Given the description of an element on the screen output the (x, y) to click on. 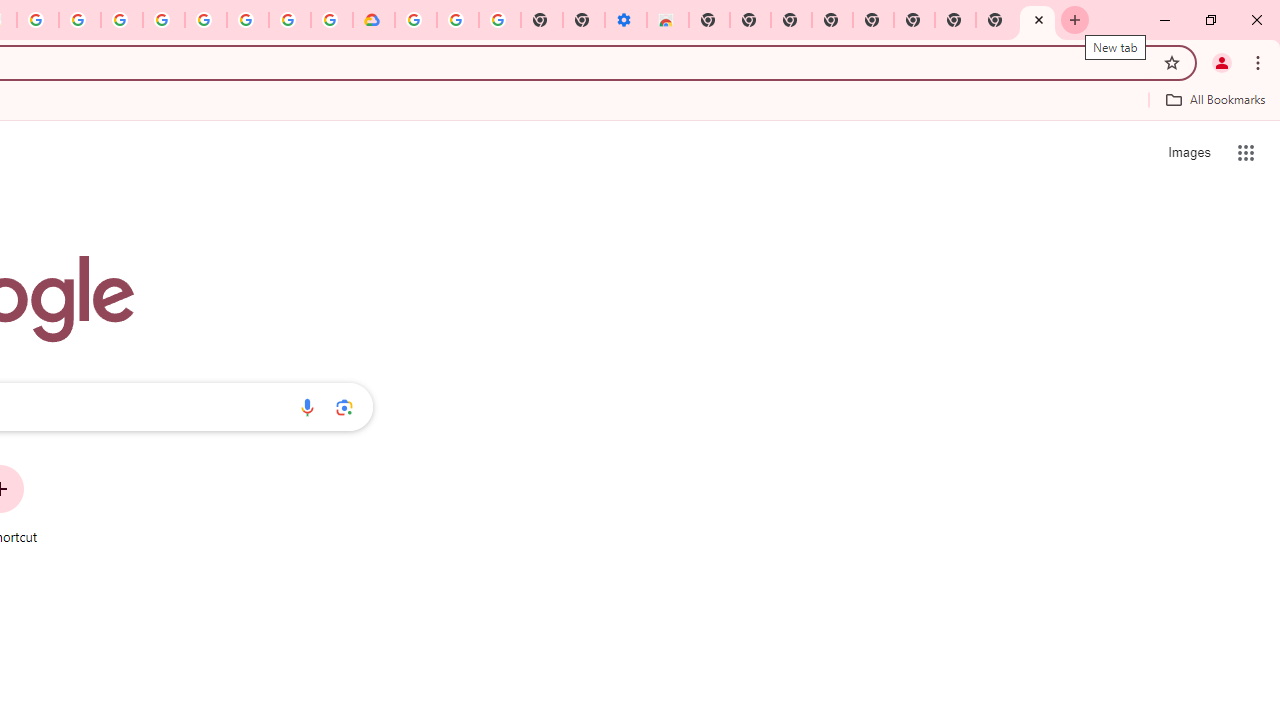
New Tab (1037, 20)
Settings - Accessibility (625, 20)
Google Account Help (457, 20)
All Bookmarks (1215, 99)
Ad Settings (122, 20)
Chrome Web Store - Accessibility extensions (667, 20)
Turn cookies on or off - Computer - Google Account Help (499, 20)
Google Account Help (205, 20)
